Given the description of an element on the screen output the (x, y) to click on. 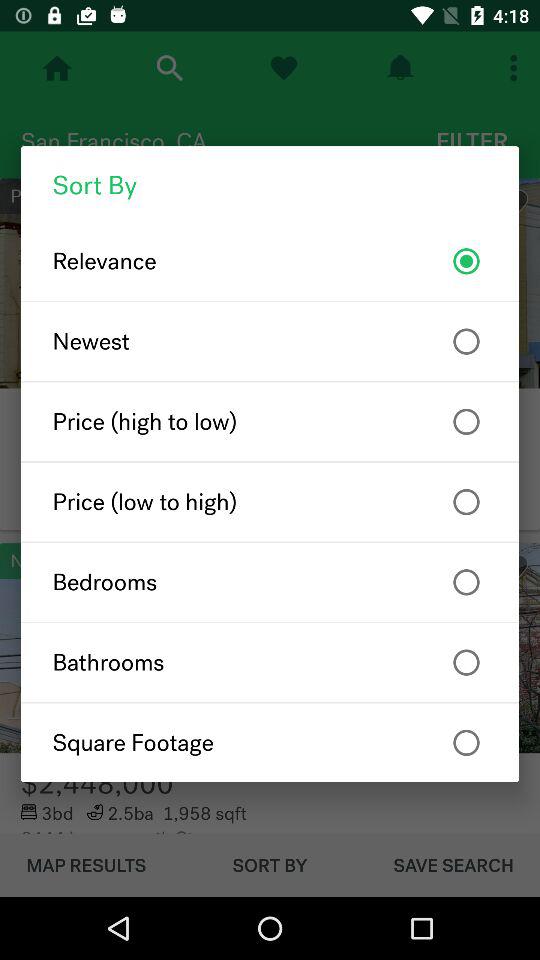
press icon below price low to icon (270, 582)
